Given the description of an element on the screen output the (x, y) to click on. 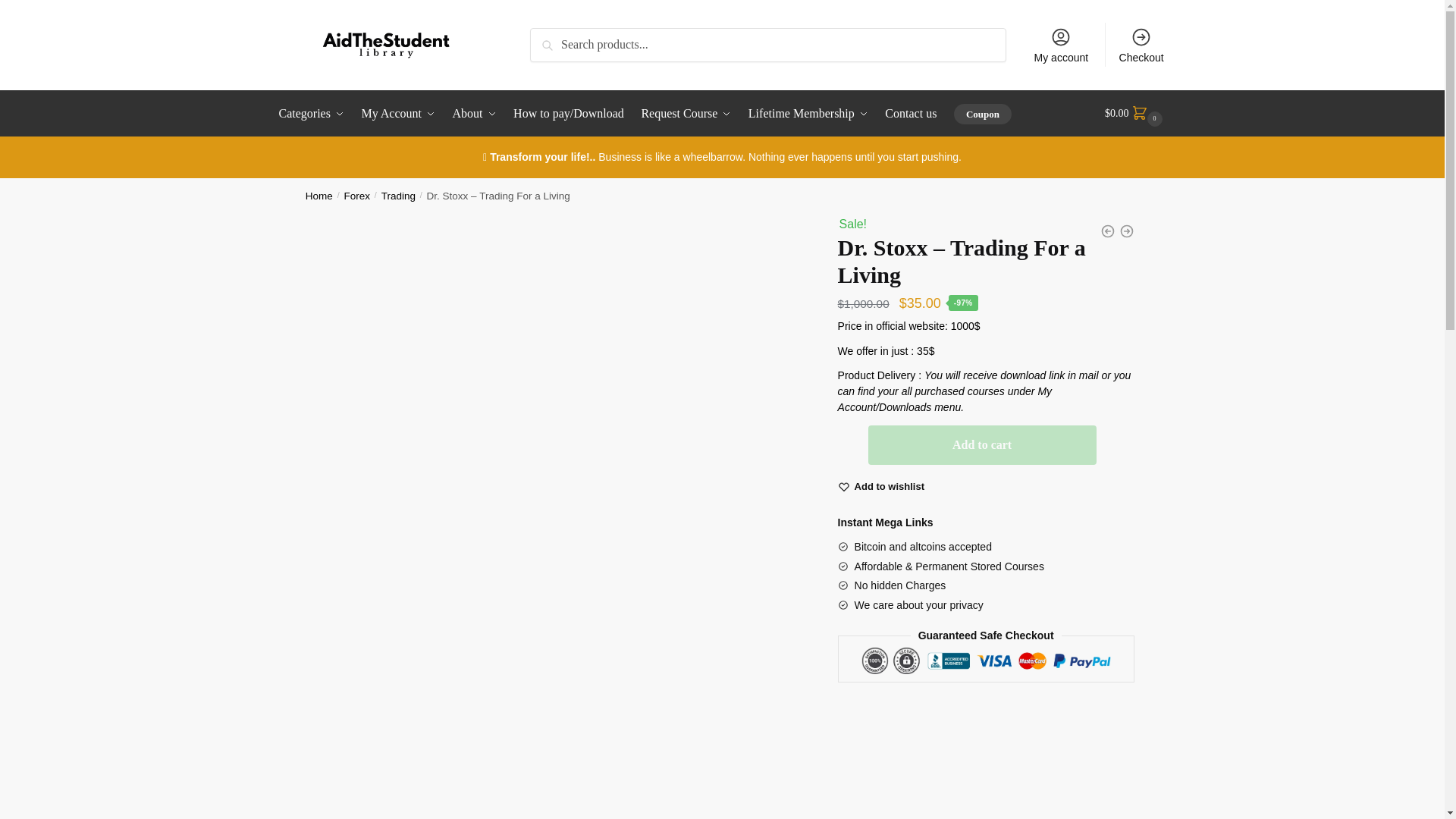
View your shopping cart (1135, 113)
Checkout (1141, 44)
Categories (314, 113)
My Account (398, 113)
About (474, 113)
Wishlist (889, 486)
Search (550, 38)
My account (1061, 44)
